Given the description of an element on the screen output the (x, y) to click on. 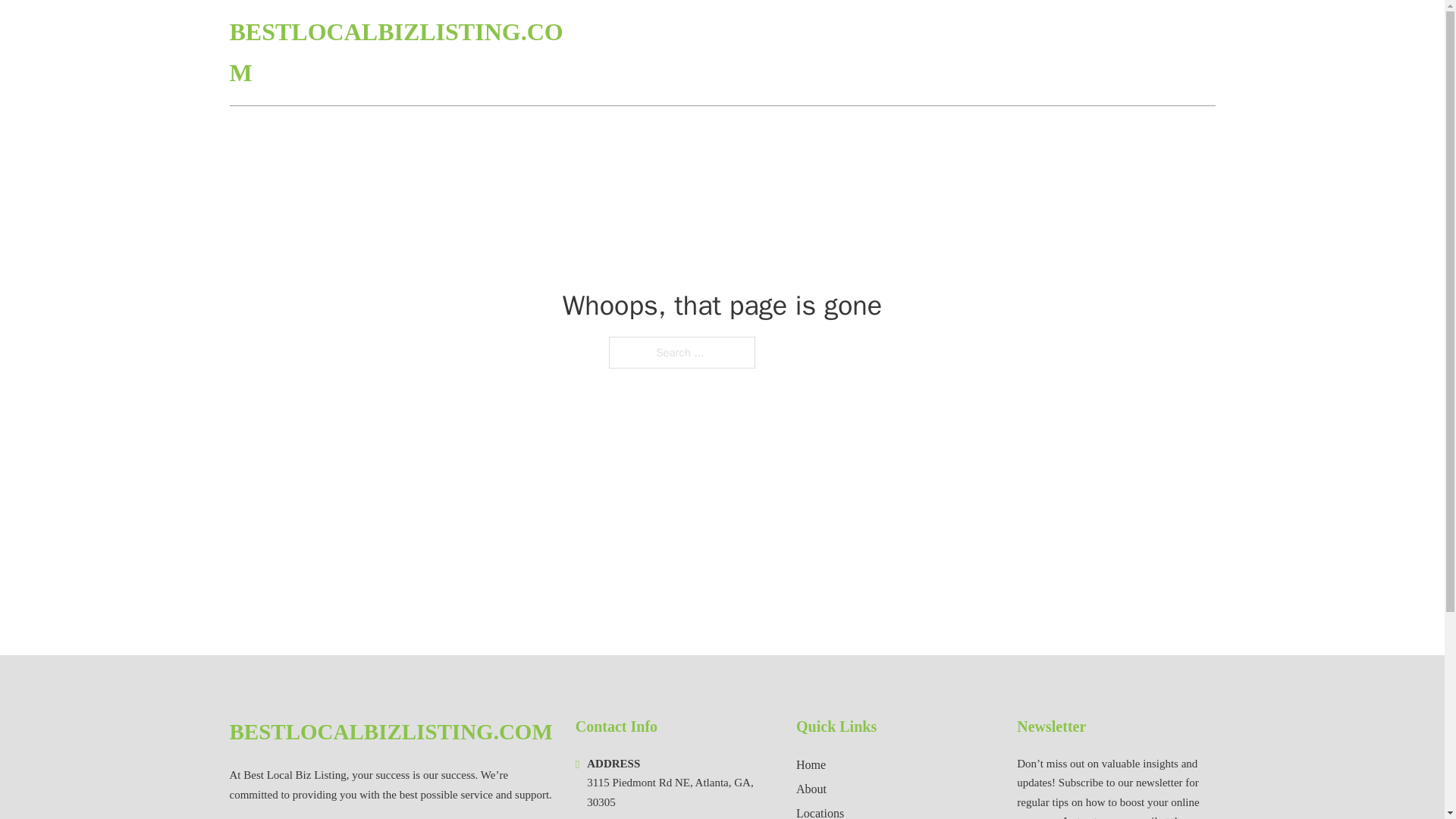
BESTLOCALBIZLISTING.COM (389, 732)
LOCATIONS (1105, 53)
About (811, 788)
Home (810, 764)
BESTLOCALBIZLISTING.COM (400, 52)
HOME (1032, 53)
Locations (820, 811)
